Given the description of an element on the screen output the (x, y) to click on. 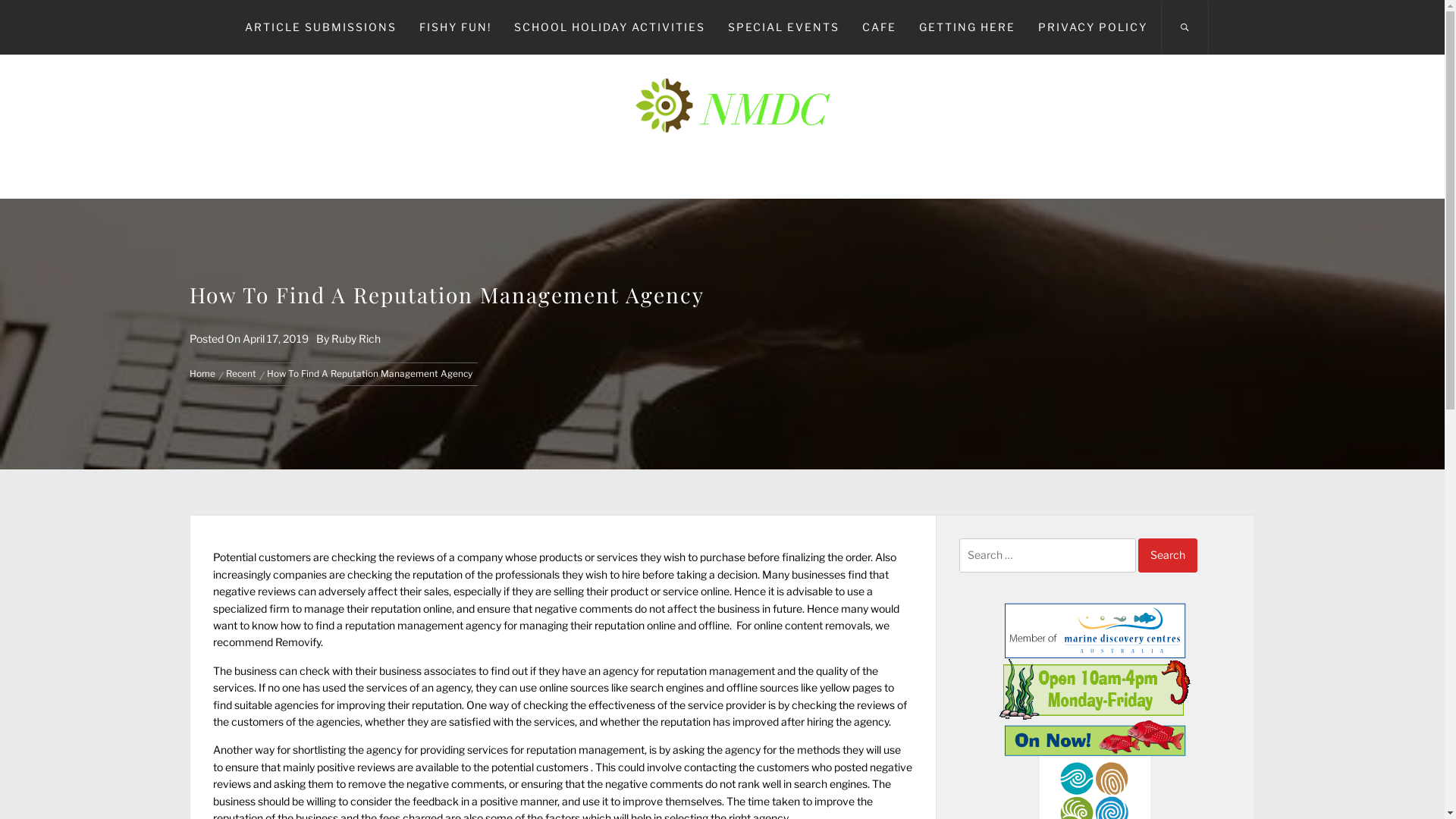
Recent Element type: text (240, 373)
Removify Element type: text (297, 641)
CAFE Element type: text (878, 27)
NMDC Element type: text (722, 112)
PRIVACY POLICY Element type: text (1092, 27)
SCHOOL HOLIDAY ACTIVITIES Element type: text (608, 27)
Skip to content Element type: text (0, 0)
ARTICLE SUBMISSIONS Element type: text (320, 27)
SPECIAL EVENTS Element type: text (782, 27)
FISHY FUN! Element type: text (454, 27)
Ruby Rich Element type: text (355, 338)
GETTING HERE Element type: text (966, 27)
Search Element type: text (1167, 554)
Home Element type: text (204, 373)
Search Element type: text (797, 407)
How To Find A Reputation Management Agency Element type: text (369, 373)
April 17, 2019 Element type: text (275, 338)
